Given the description of an element on the screen output the (x, y) to click on. 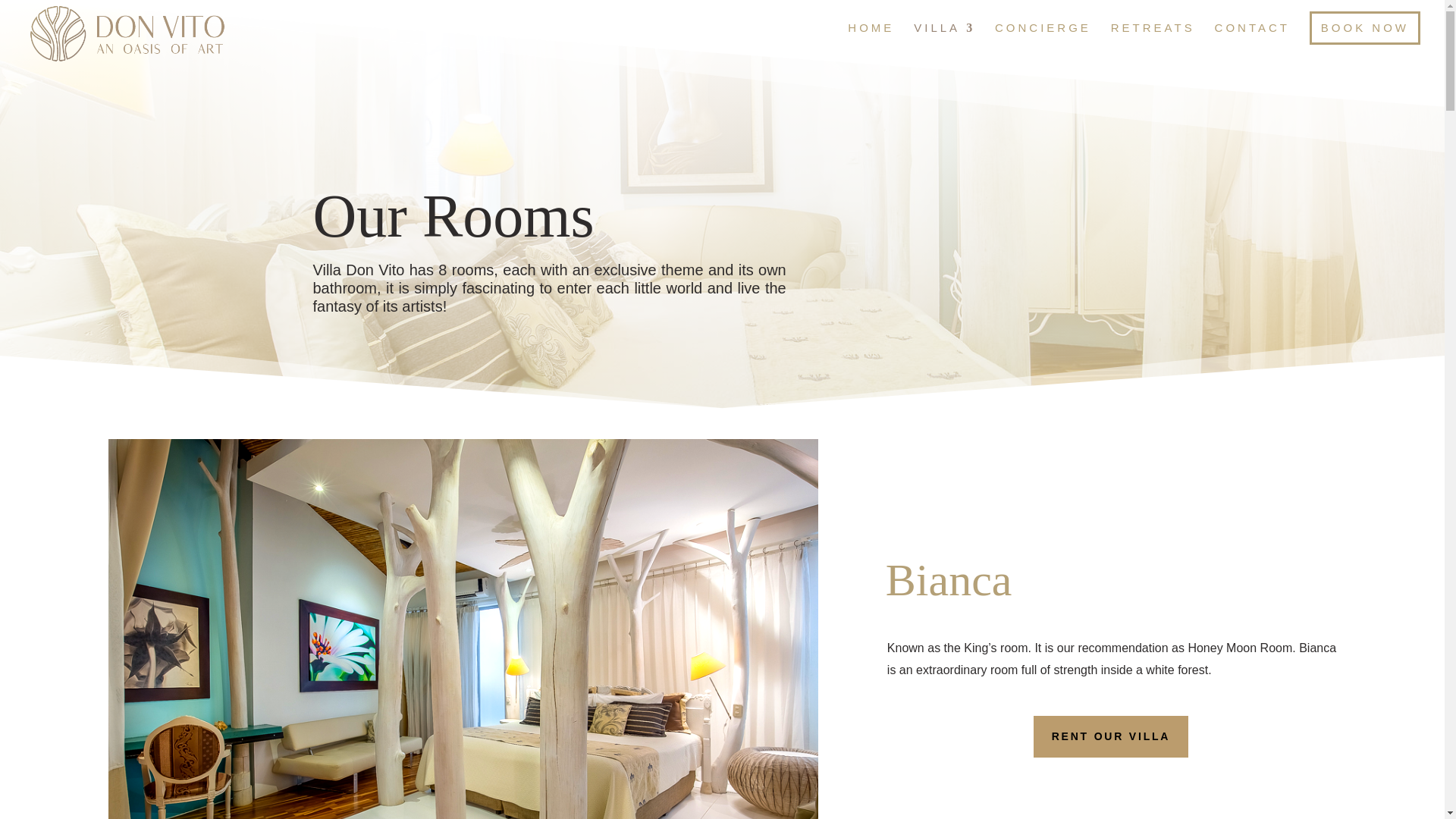
VILLA (944, 44)
RETREATS (1152, 44)
RENT OUR VILLA (1111, 736)
CONTACT (1252, 44)
BOOK NOW (1364, 28)
CONCIERGE (1042, 44)
HOME (870, 44)
